Given the description of an element on the screen output the (x, y) to click on. 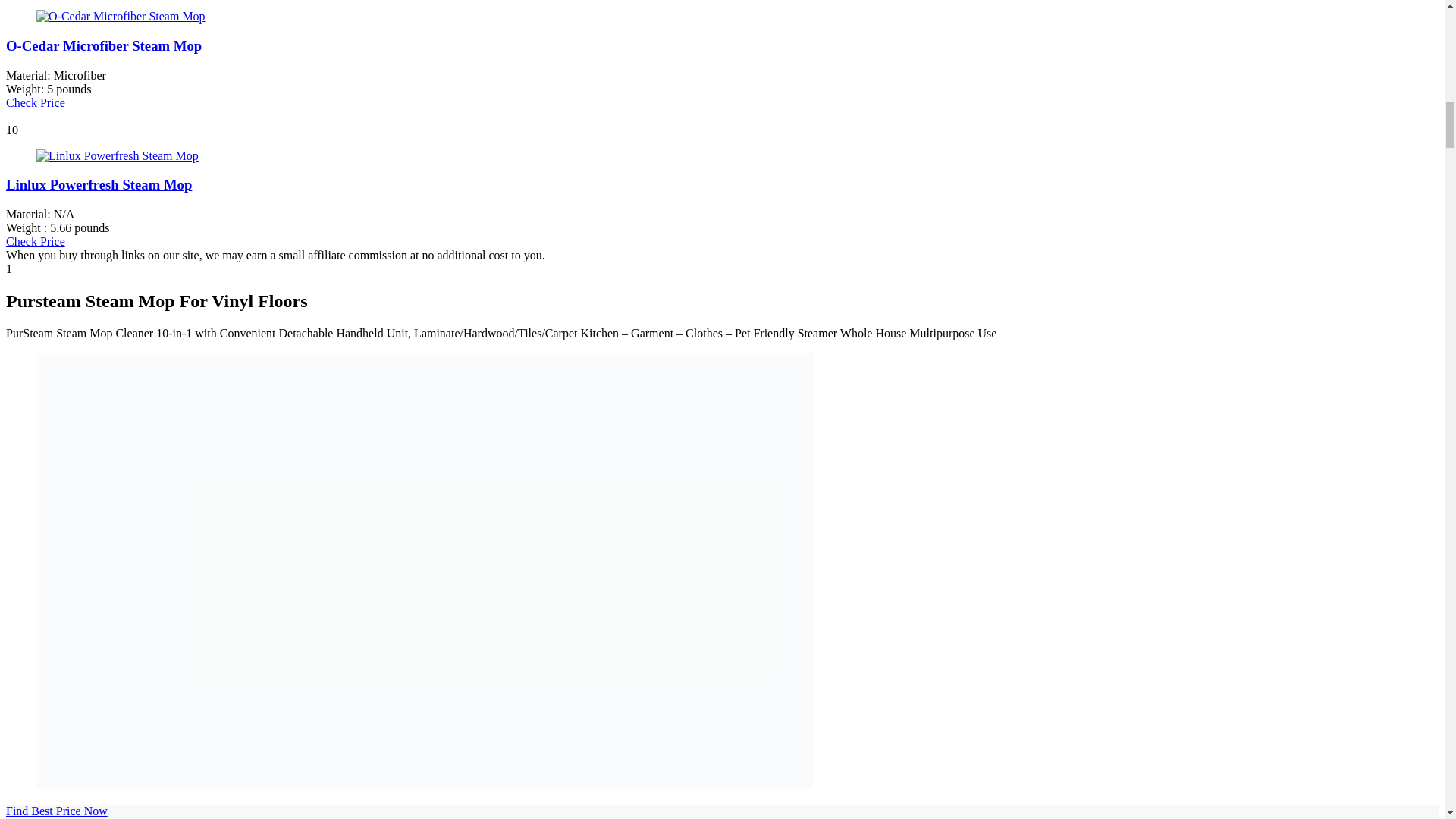
Check Price (35, 241)
Linlux Powerfresh Steam Mop (98, 184)
Find Best Price Now (56, 810)
O-Cedar Microfiber Steam Mop (103, 45)
Check Price (35, 102)
